Given the description of an element on the screen output the (x, y) to click on. 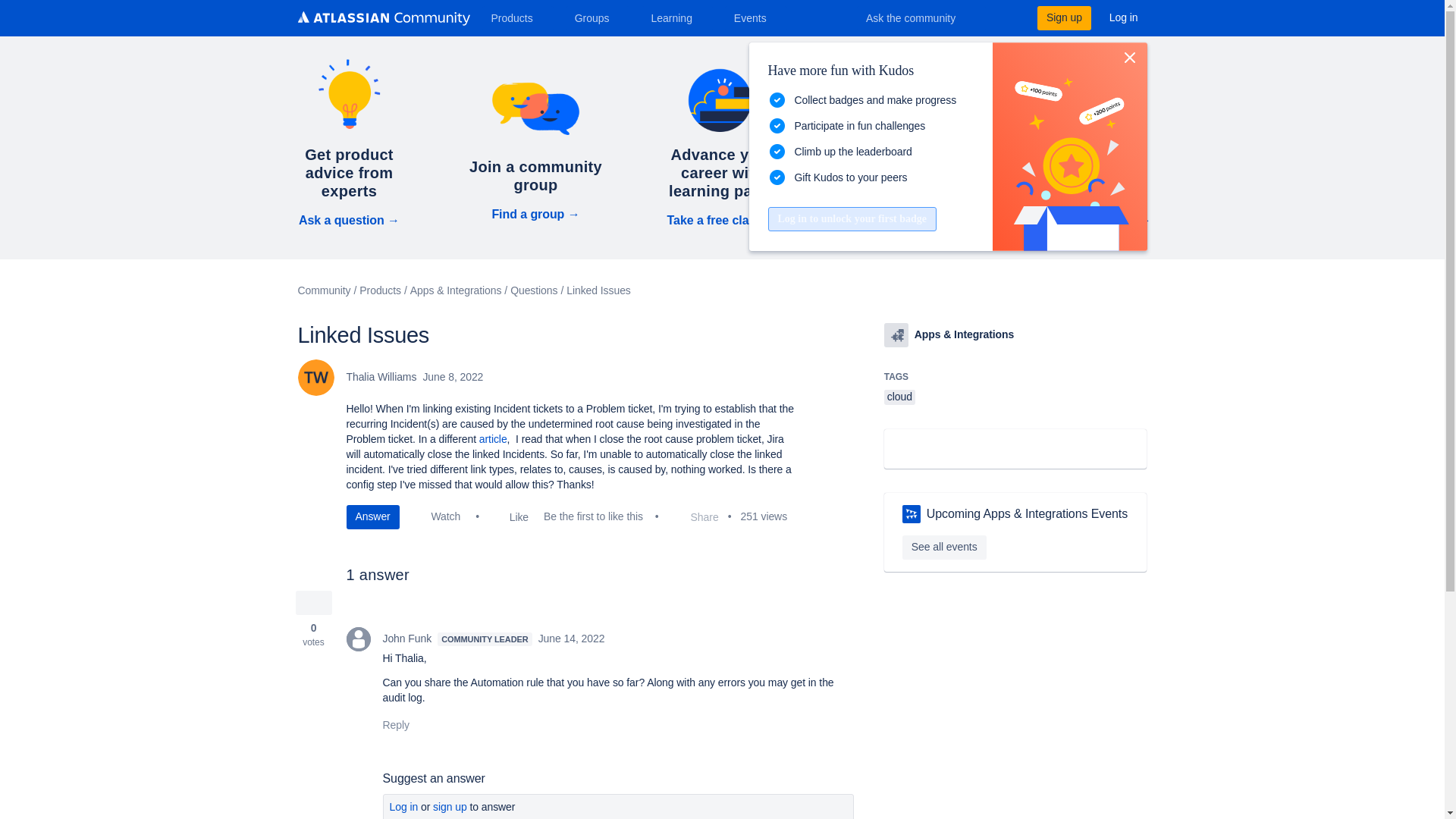
Atlassian Community logo (382, 19)
Log in to unlock your first badge (851, 218)
Sign up (1063, 17)
John Funk (357, 639)
AUG Leaders (911, 514)
Product apps (895, 334)
Log in (1123, 17)
Events (756, 17)
Products (517, 17)
Learning (676, 17)
Ask the community  (921, 17)
Groups (598, 17)
Atlassian Community logo (382, 18)
Thalia Williams (315, 377)
